Given the description of an element on the screen output the (x, y) to click on. 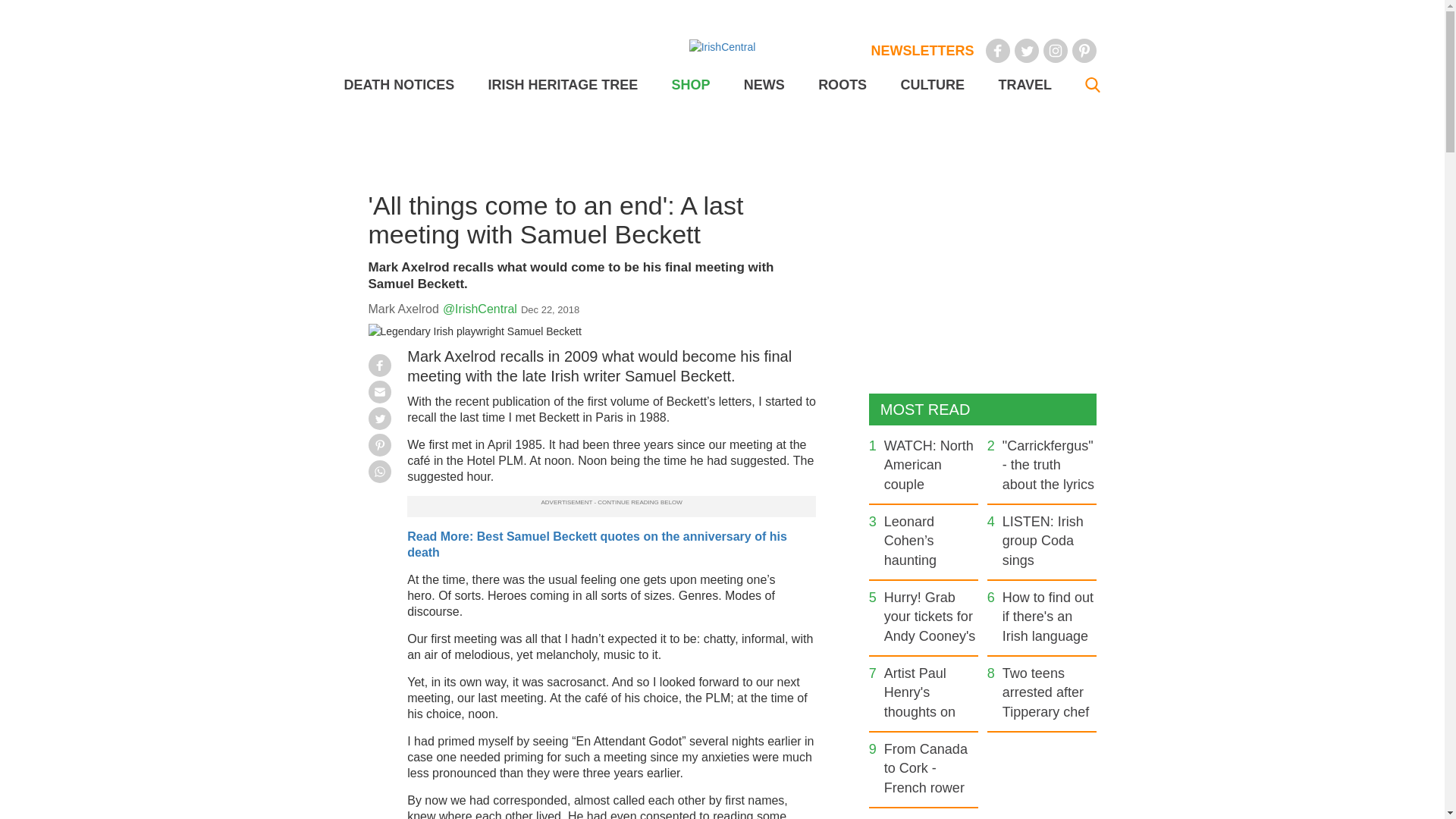
CULTURE (931, 84)
IRISH HERITAGE TREE (562, 84)
NEWS (764, 84)
SHOP (690, 84)
DEATH NOTICES (398, 84)
TRAVEL (1024, 84)
NEWSLETTERS (922, 50)
ROOTS (842, 84)
